Given the description of an element on the screen output the (x, y) to click on. 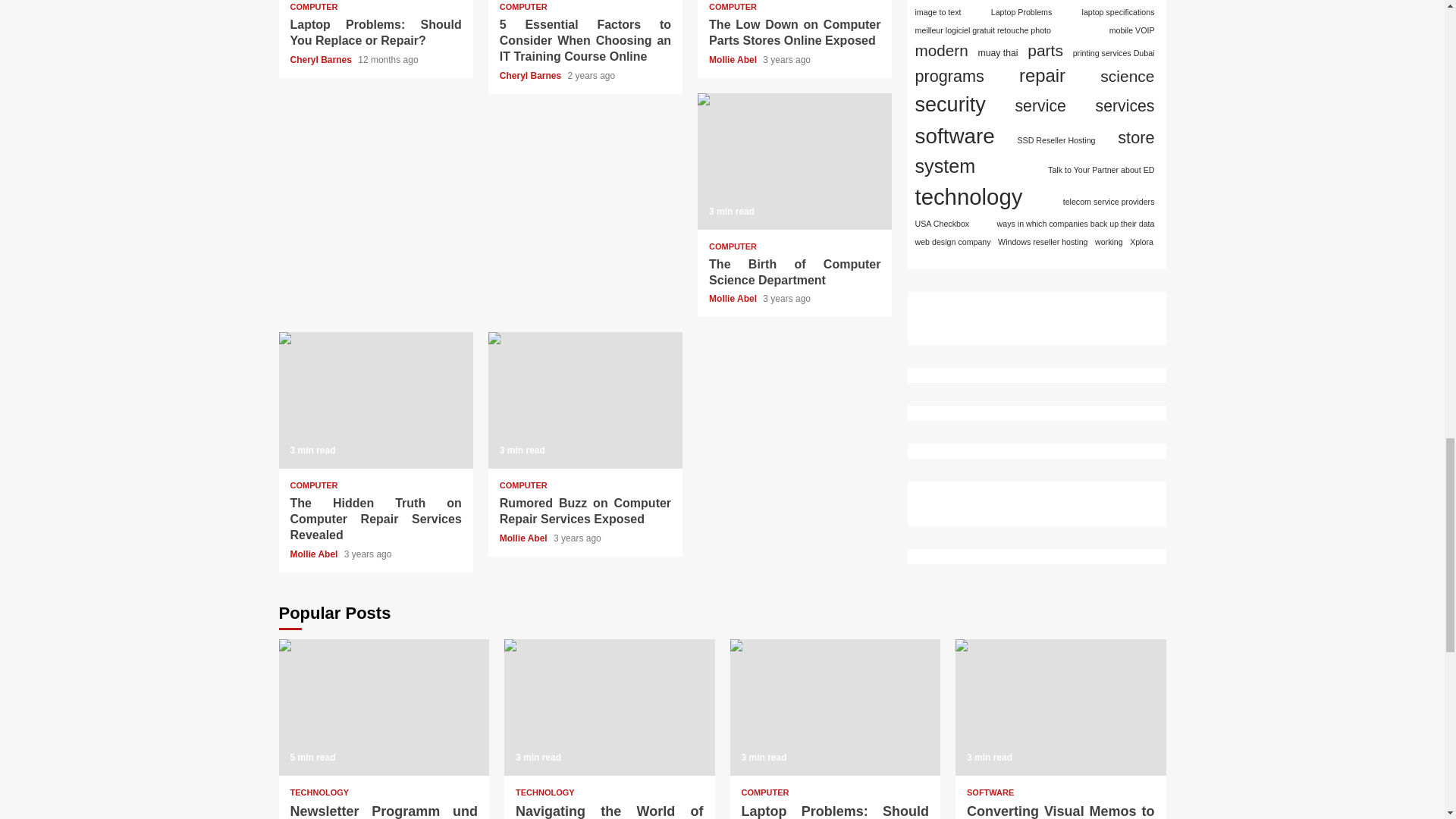
COMPUTER (523, 7)
Mollie Abel (733, 59)
Laptop Problems: Should You Replace or Repair? (375, 32)
The Birth of Computer Science Department (794, 161)
Cheryl Barnes (321, 59)
The Hidden Truth on Computer Repair Services Revealed (285, 337)
The Birth of Computer Science Department (794, 271)
The Hidden Truth on Computer Repair Services Revealed (376, 400)
Cheryl Barnes (531, 75)
Rumored Buzz on Computer Repair Services Exposed (493, 337)
